Given the description of an element on the screen output the (x, y) to click on. 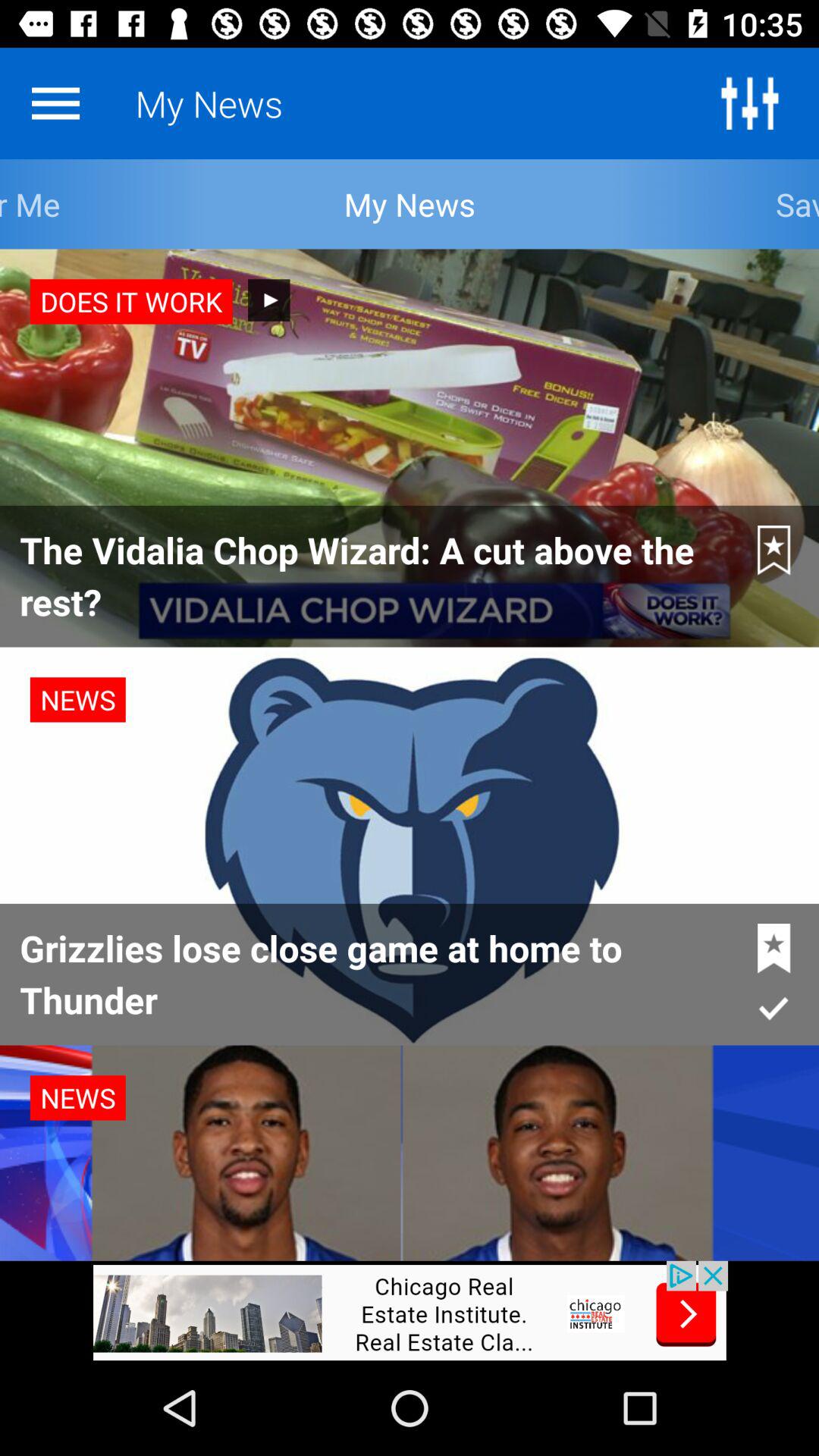
open menu (55, 103)
